Given the description of an element on the screen output the (x, y) to click on. 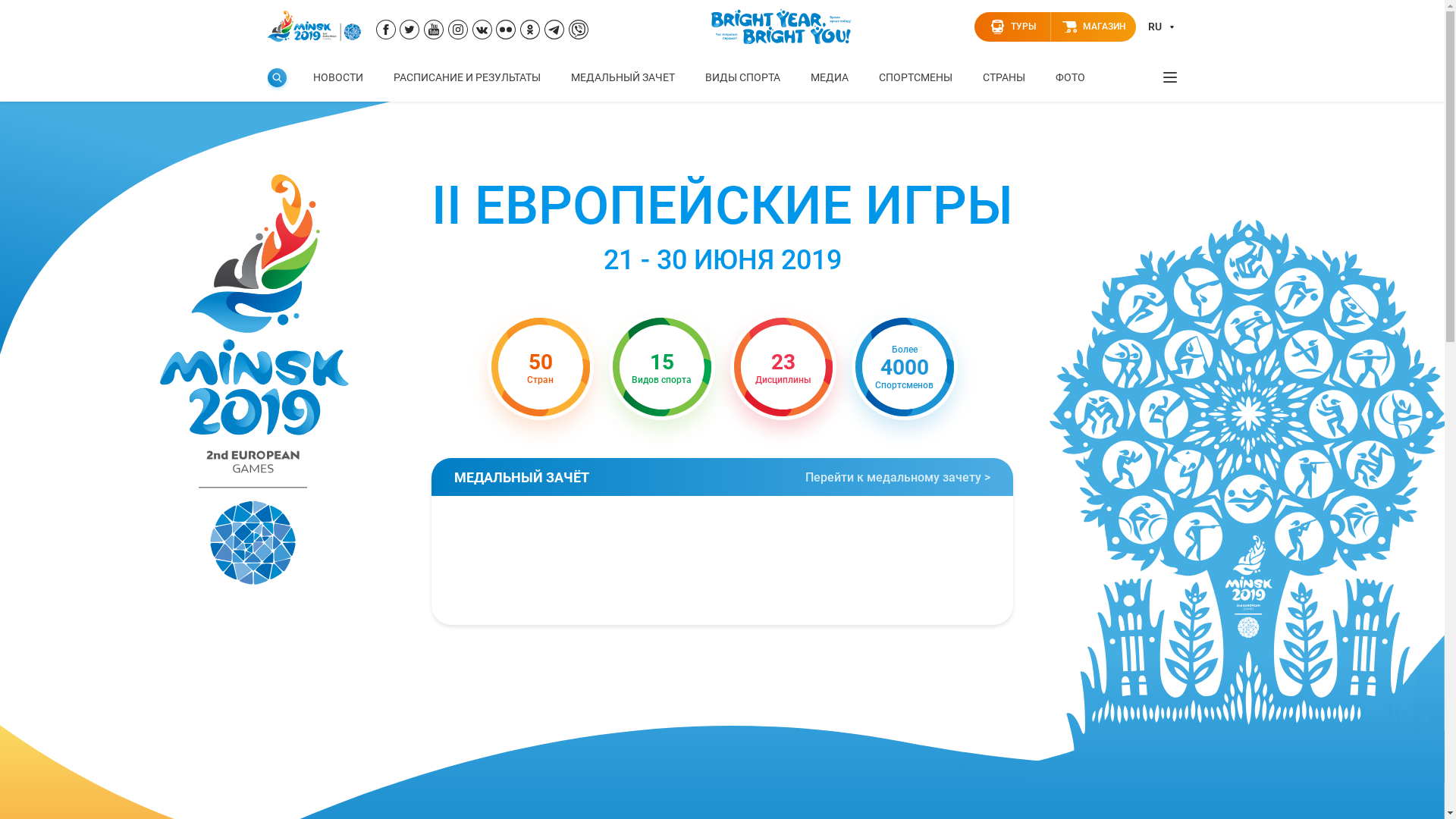
Viber Element type: hover (578, 31)
Ok Element type: hover (529, 31)
Instagram Element type: hover (457, 31)
Flickr Element type: hover (505, 31)
Vk Element type: hover (481, 31)
Youtube Element type: hover (433, 31)
Telegram Element type: hover (554, 31)
Facebook Element type: hover (385, 31)
Twitter Element type: hover (409, 31)
